Given the description of an element on the screen output the (x, y) to click on. 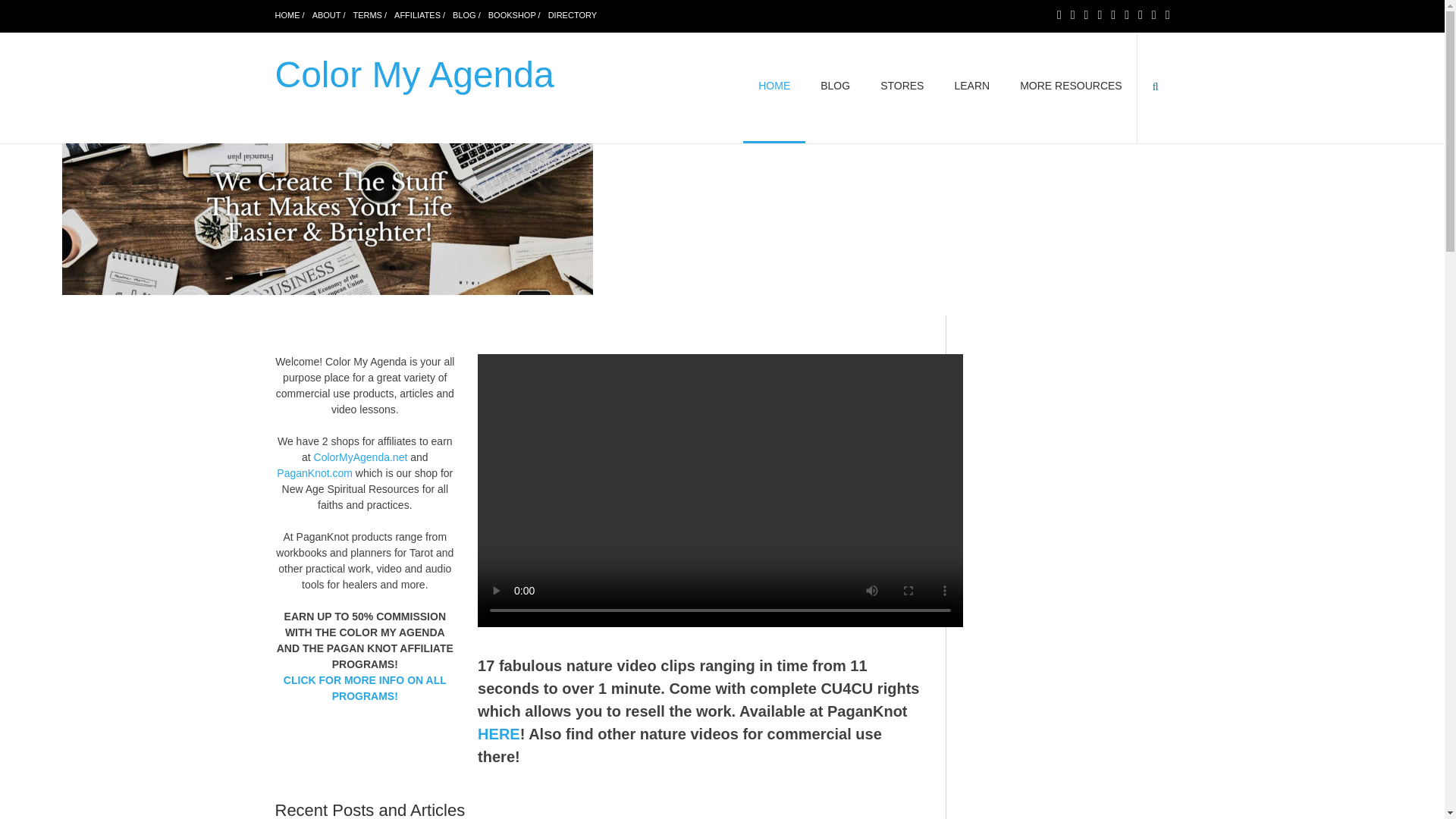
header1400 (327, 218)
MORE RESOURCES (1070, 87)
DIRECTORY (572, 14)
Color My Agenda (414, 74)
Color My Agenda (414, 74)
